Given the description of an element on the screen output the (x, y) to click on. 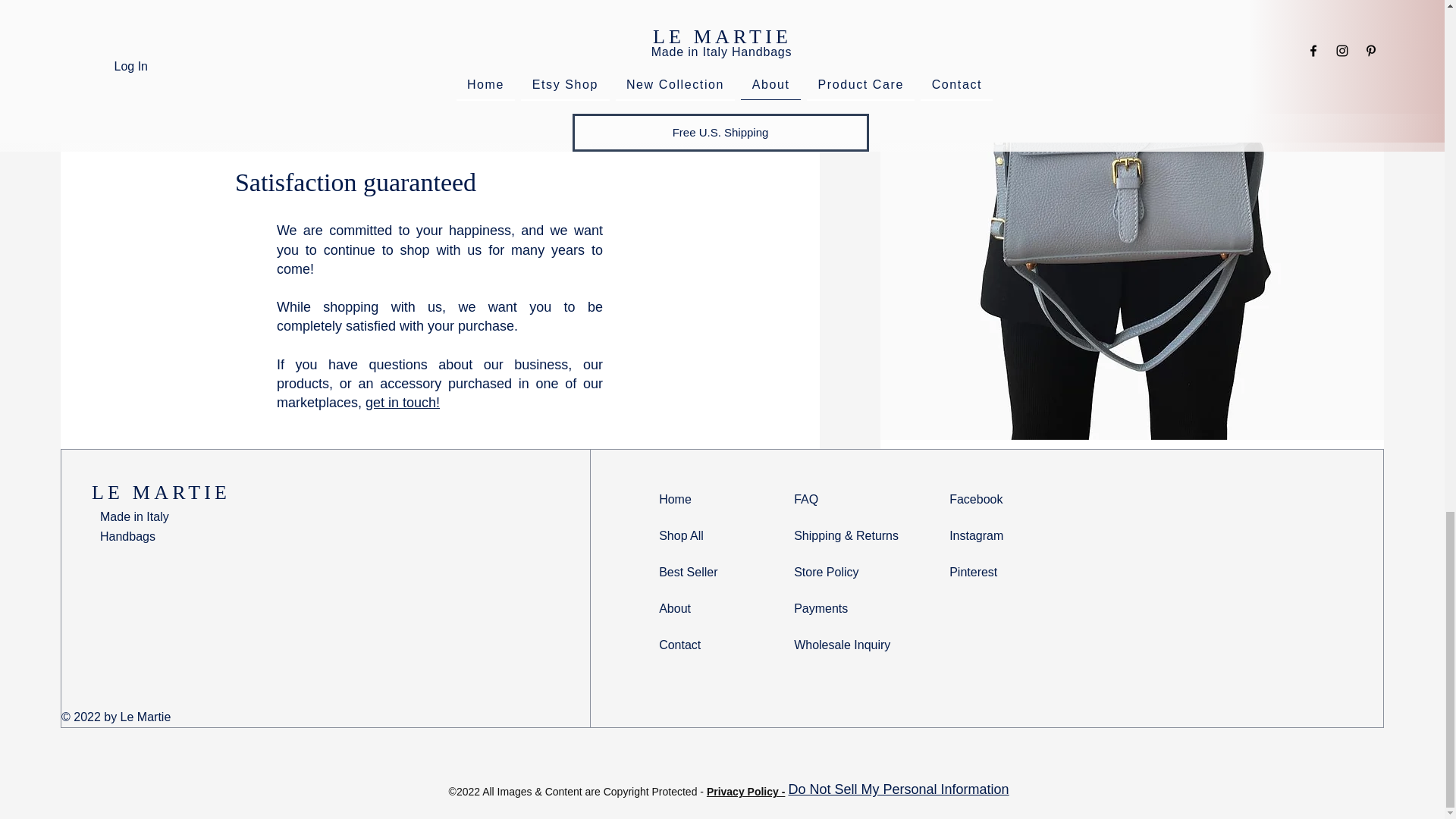
Contact (679, 644)
Wholesale Inquiry (841, 644)
Payments (820, 608)
LE MARTIE (160, 492)
Instagram (976, 535)
get in touch! (402, 402)
FAQ (805, 499)
Shop All (681, 535)
About (674, 608)
Privacy Policy - (746, 791)
